Given the description of an element on the screen output the (x, y) to click on. 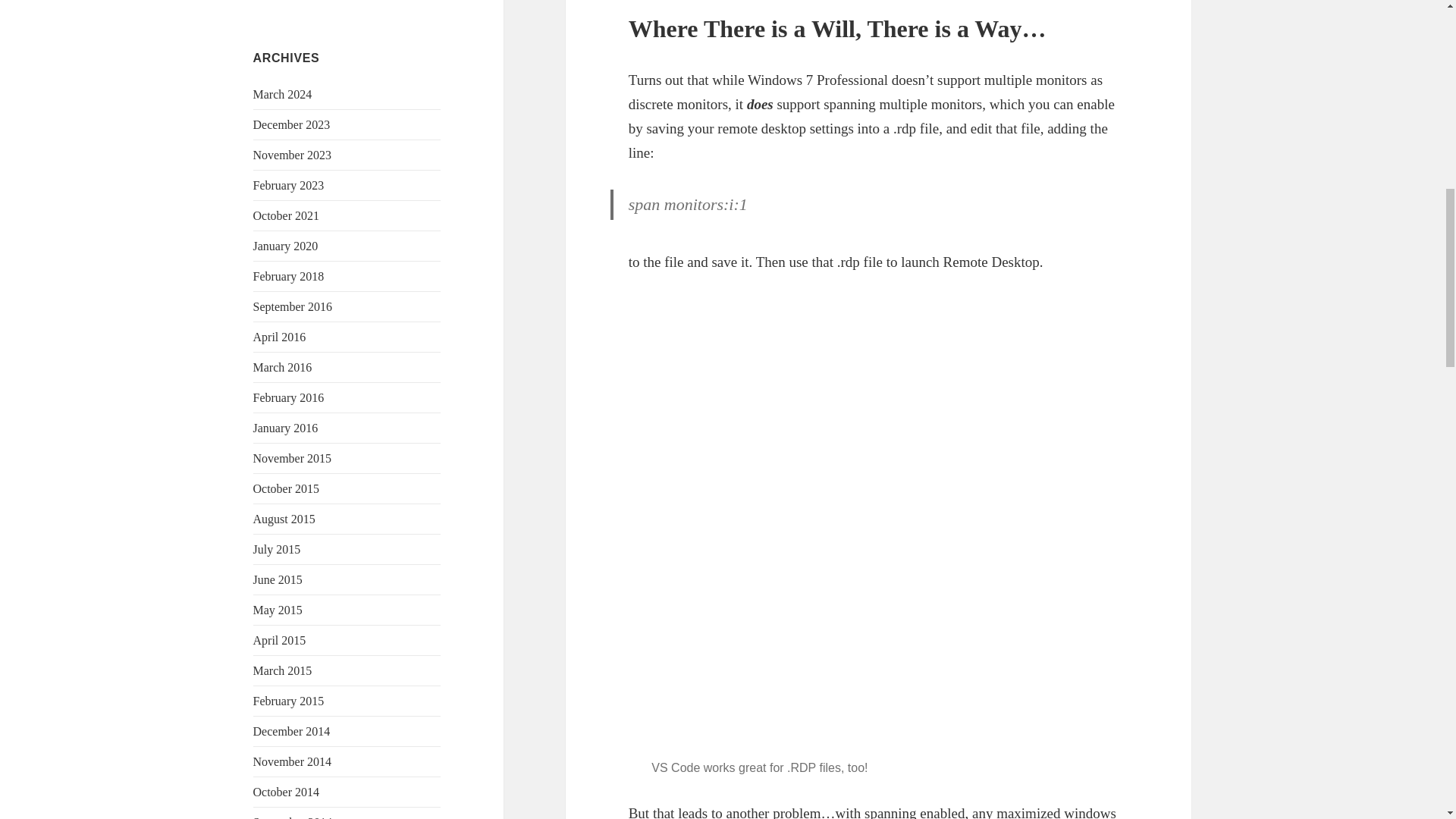
March 2016 (283, 367)
February 2016 (288, 397)
April 2015 (279, 640)
October 2015 (286, 488)
May 2015 (277, 609)
December 2023 (291, 124)
February 2015 (288, 700)
January 2020 (285, 245)
January 2016 (285, 427)
February 2023 (288, 185)
September 2016 (292, 306)
March 2024 (283, 93)
March 2015 (283, 670)
October 2021 (286, 215)
October 2014 (286, 791)
